Given the description of an element on the screen output the (x, y) to click on. 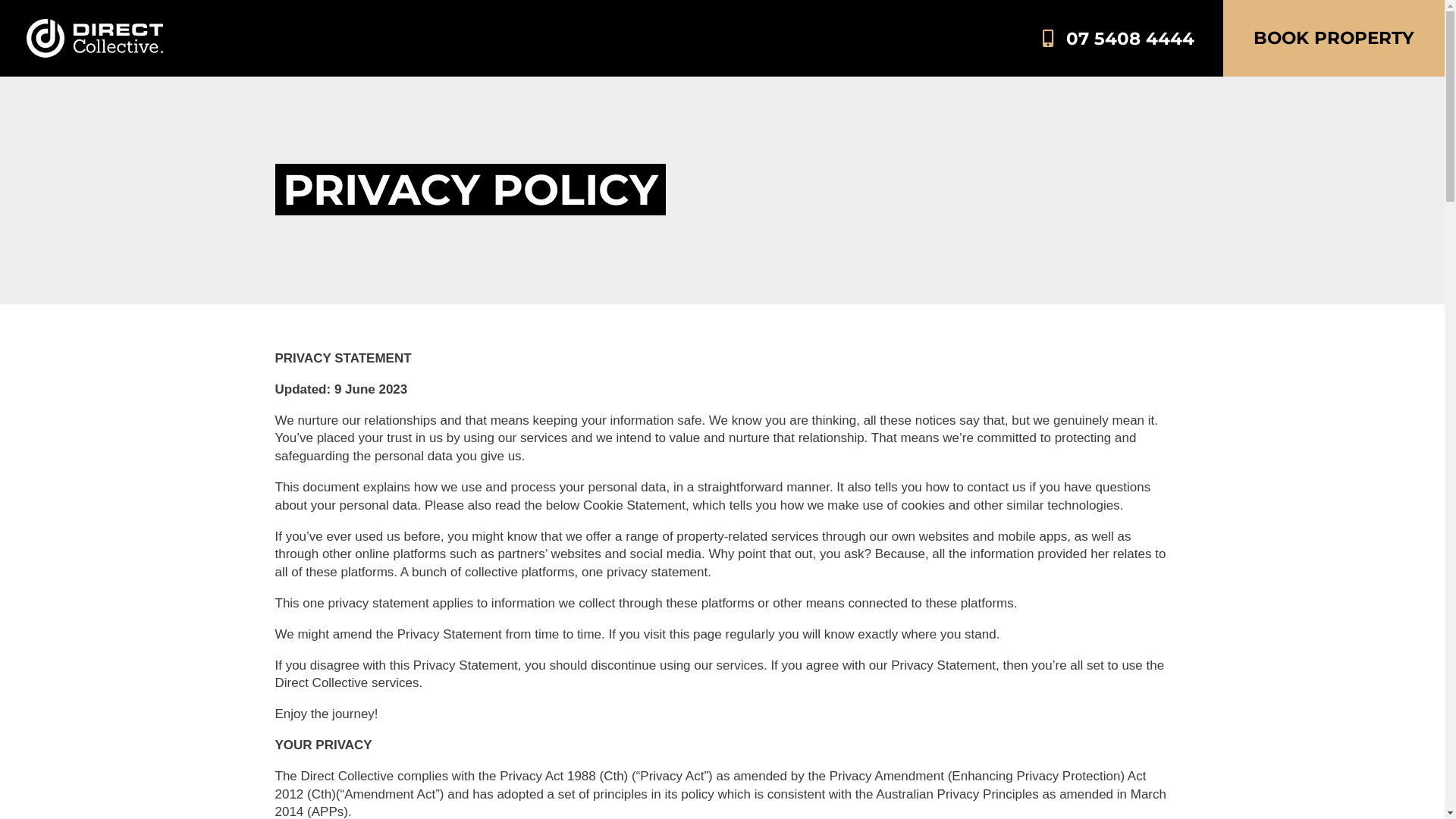
07 5408 4444 Element type: text (1118, 38)
BOOK PROPERTY Element type: text (1333, 38)
